Given the description of an element on the screen output the (x, y) to click on. 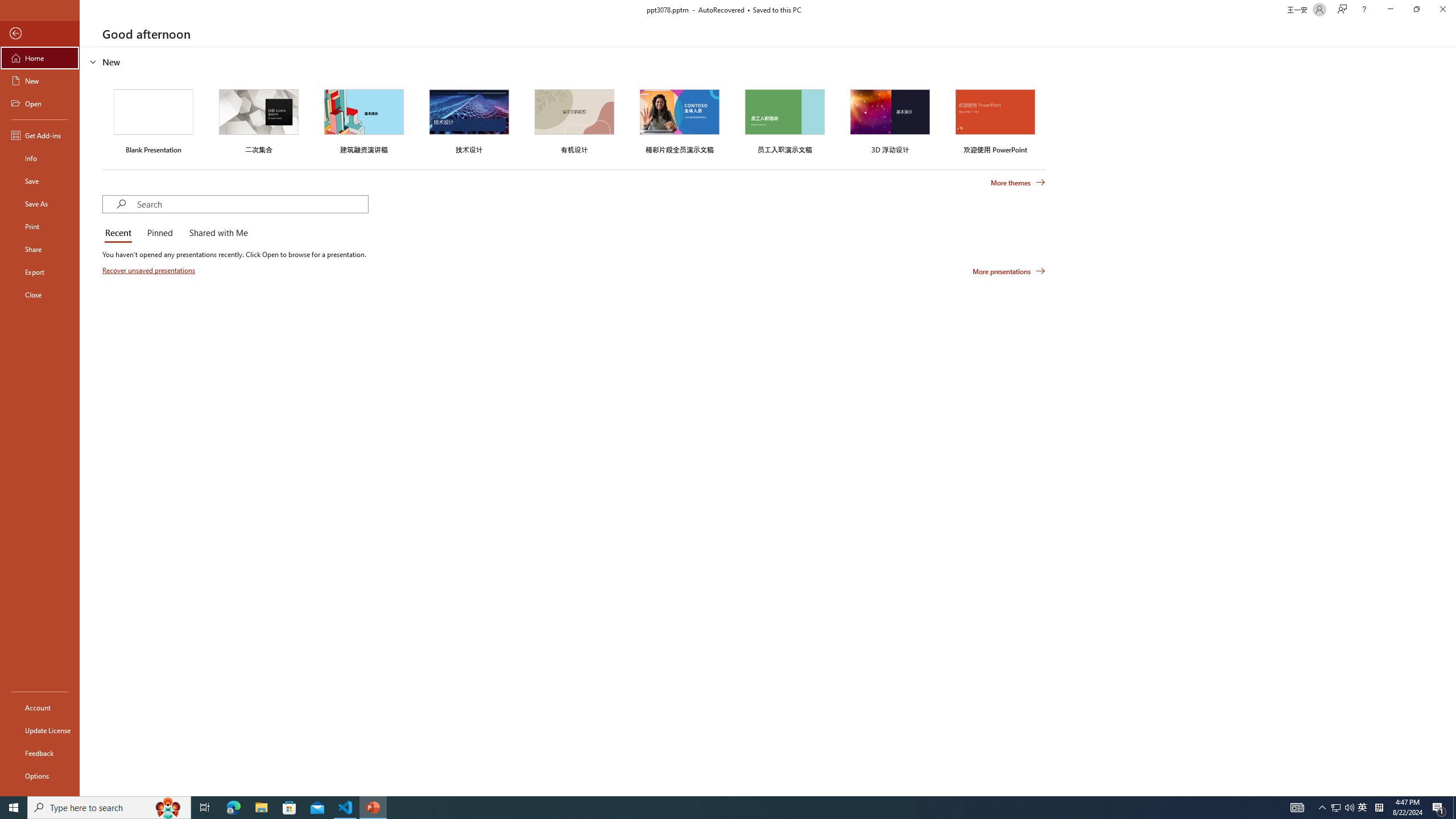
Blank Presentation (153, 119)
Get Add-ins (40, 134)
